Given the description of an element on the screen output the (x, y) to click on. 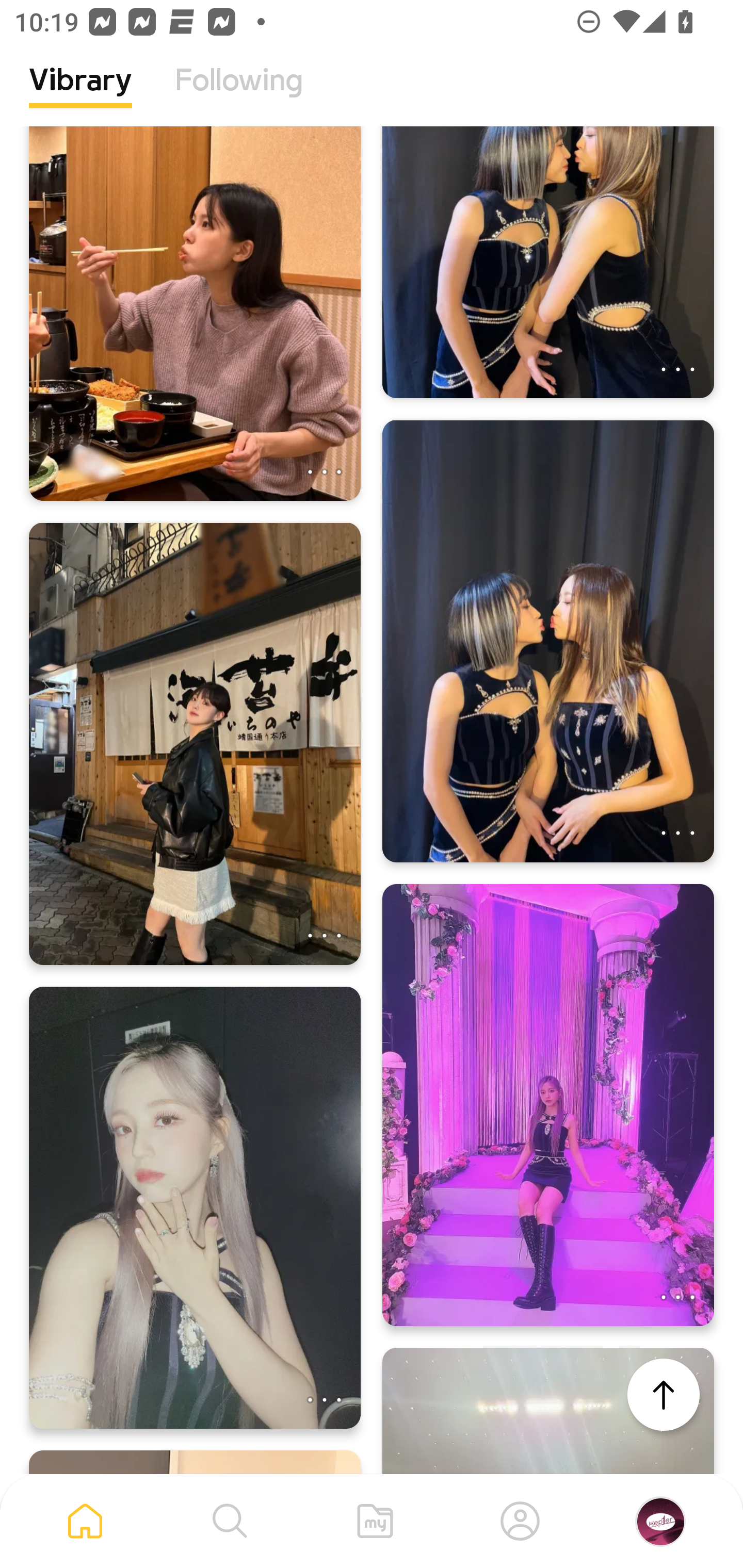
Vibrary (80, 95)
Following (239, 95)
